Given the description of an element on the screen output the (x, y) to click on. 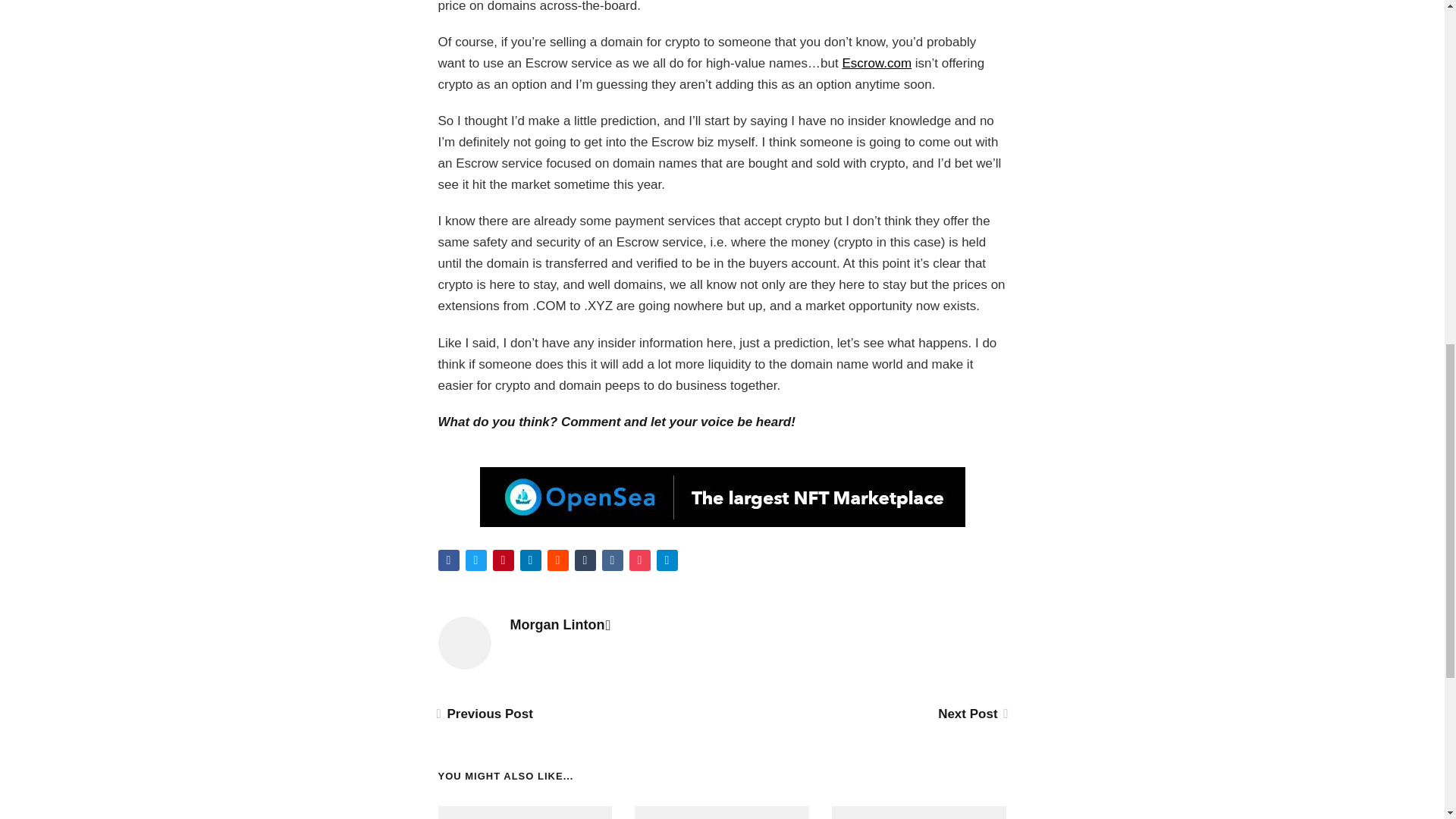
Next Post (971, 713)
Previous Post (485, 713)
Escrow.com (876, 63)
